Given the description of an element on the screen output the (x, y) to click on. 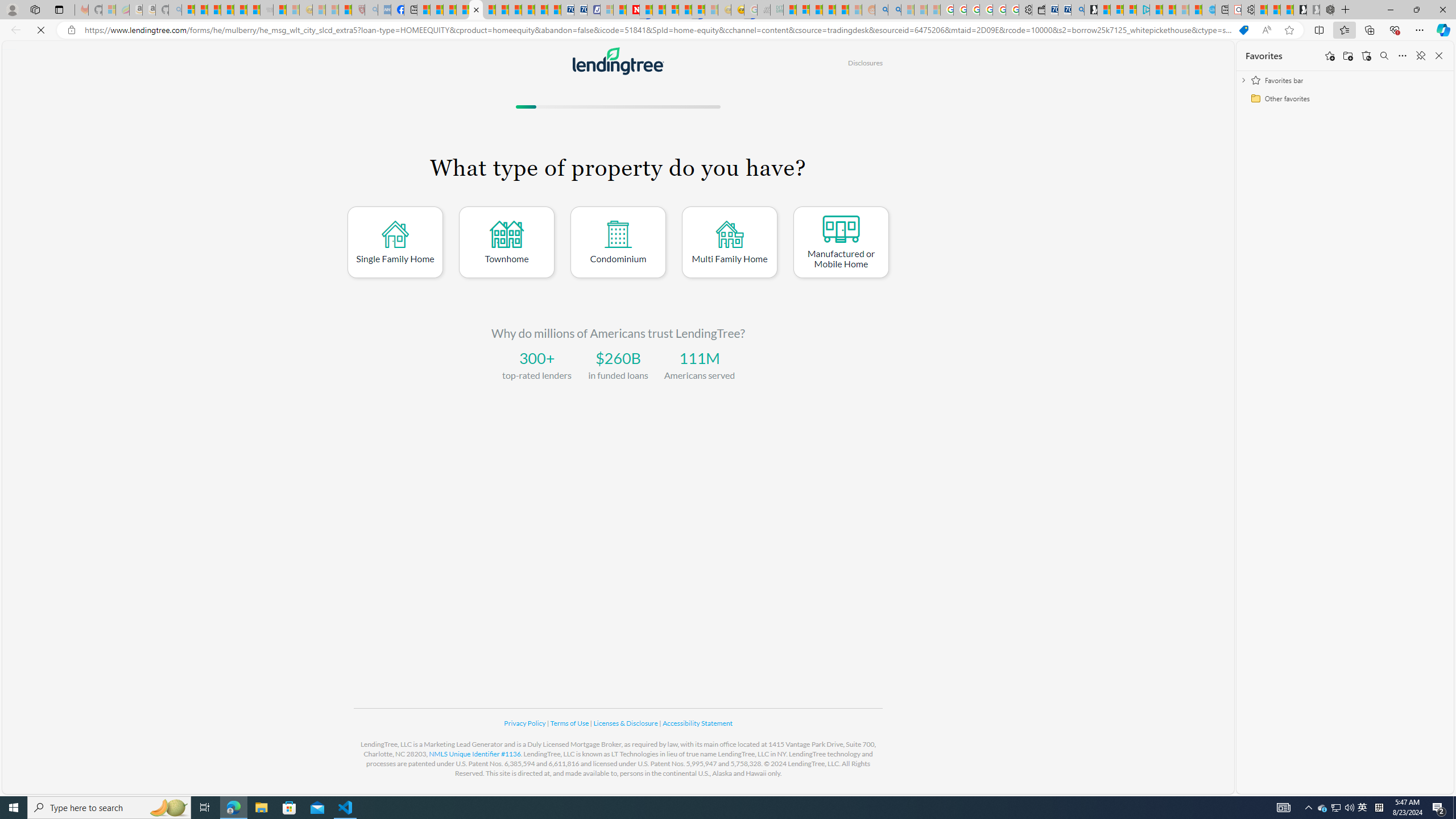
Close favorites (1439, 55)
Disclosures (864, 62)
Privacy Policy  (525, 723)
Stocks - MSN (252, 9)
Microsoft account | Privacy - Sleeping (606, 9)
The Weather Channel - MSN (213, 9)
Play Free Online Games | Games from Microsoft Start (1299, 9)
